Given the description of an element on the screen output the (x, y) to click on. 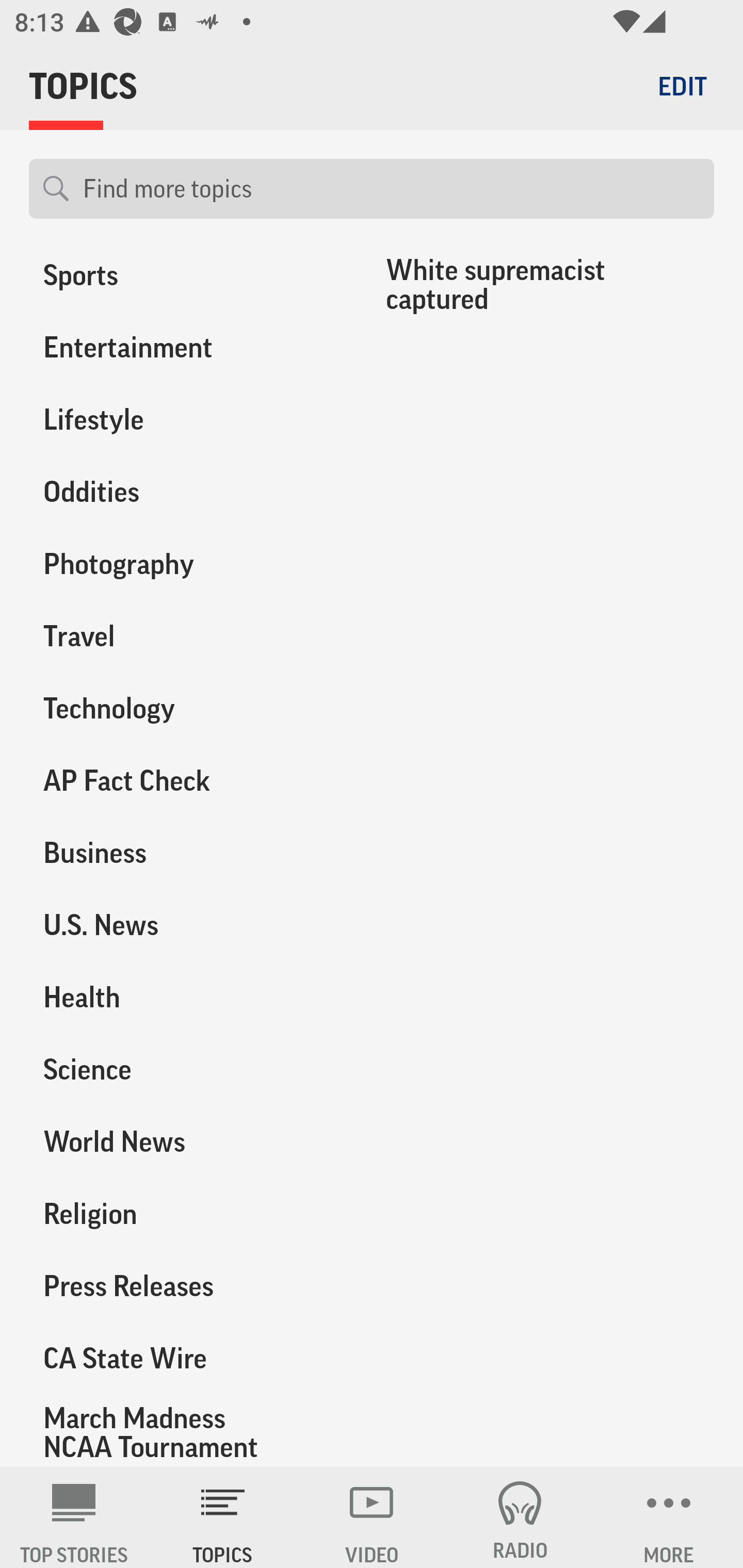
EDIT (682, 86)
Find more topics (391, 188)
Sports (185, 279)
White supremacist captured (542, 285)
Entertainment (185, 348)
Lifestyle (185, 420)
Oddities (185, 492)
Photography (185, 564)
Travel (185, 636)
Technology (185, 708)
AP Fact Check (185, 780)
Business (185, 852)
U.S. News (185, 925)
Health (185, 997)
Science (185, 1069)
World News (185, 1141)
Religion (185, 1213)
Press Releases (185, 1285)
CA State Wire (185, 1357)
March Madness NCAA Tournament (185, 1430)
AP News TOP STORIES (74, 1517)
TOPICS (222, 1517)
VIDEO (371, 1517)
RADIO (519, 1517)
MORE (668, 1517)
